Given the description of an element on the screen output the (x, y) to click on. 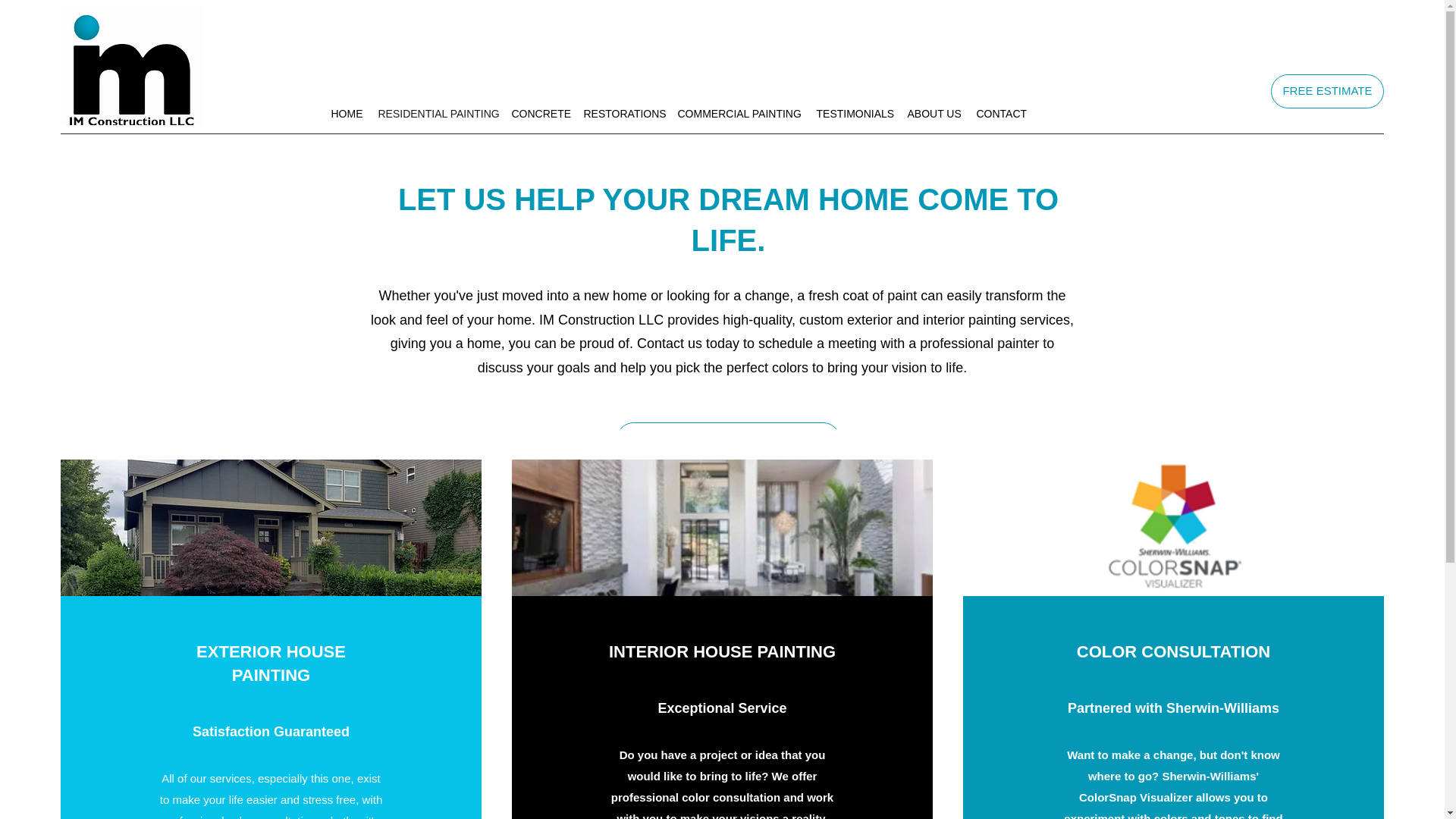
HOME (346, 113)
CONTACT US FOR A FREE ESTIMATE (727, 439)
TESTIMONIALS (853, 113)
CONCRETE (539, 113)
FREE ESTIMATE (1327, 91)
CONTACT (1002, 113)
ABOUT US (933, 113)
RESTORATIONS (622, 113)
RESIDENTIAL PAINTING (436, 113)
COMMERCIAL PAINTING (739, 113)
